Given the description of an element on the screen output the (x, y) to click on. 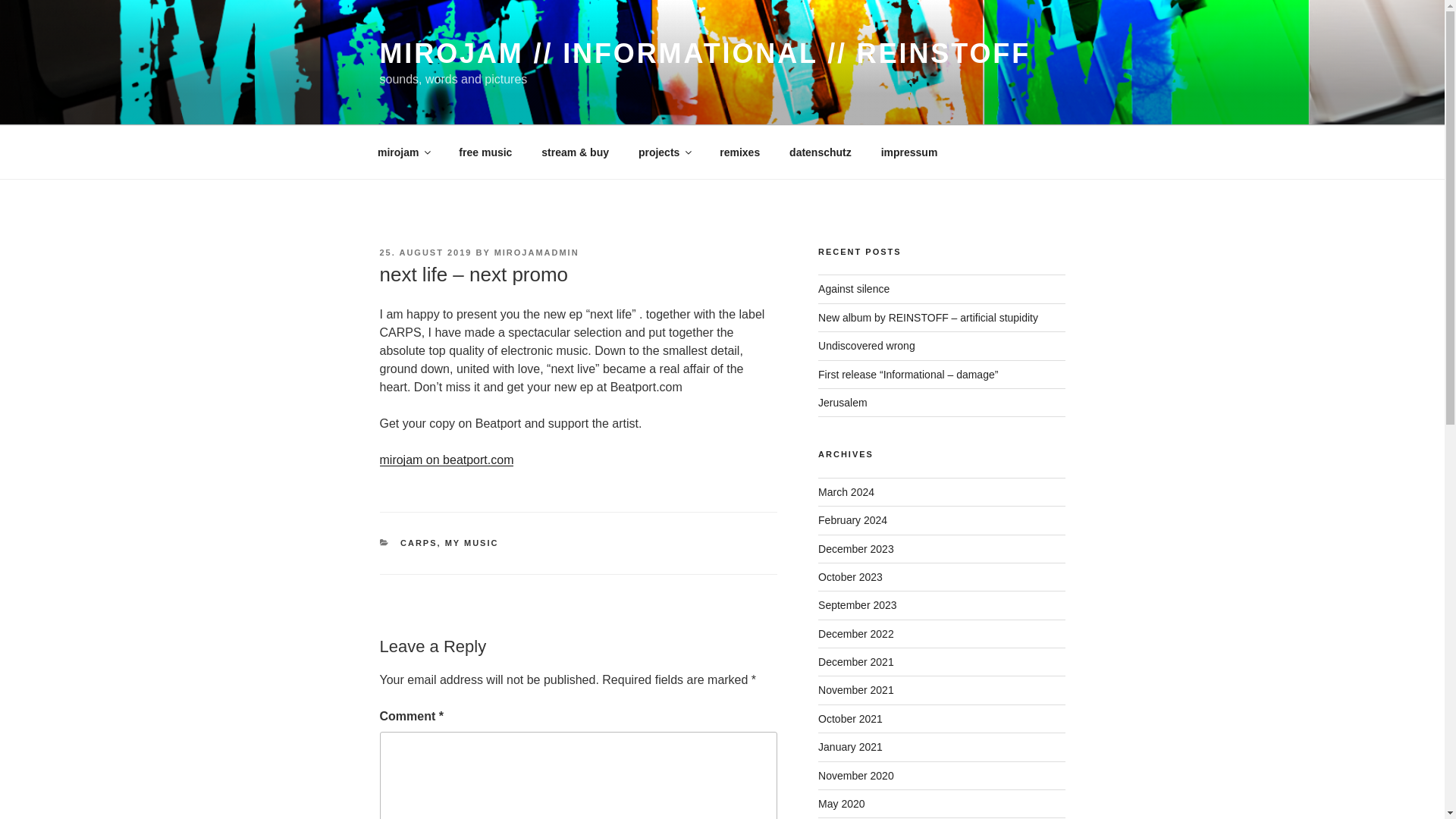
mirojam on beatport.com (445, 459)
projects (663, 151)
Against silence (853, 288)
remixes (739, 151)
Jerusalem (842, 402)
datenschutz (820, 151)
CARPS (419, 542)
MY MUSIC (472, 542)
MIROJAMADMIN (537, 252)
Undiscovered wrong (866, 345)
